Given the description of an element on the screen output the (x, y) to click on. 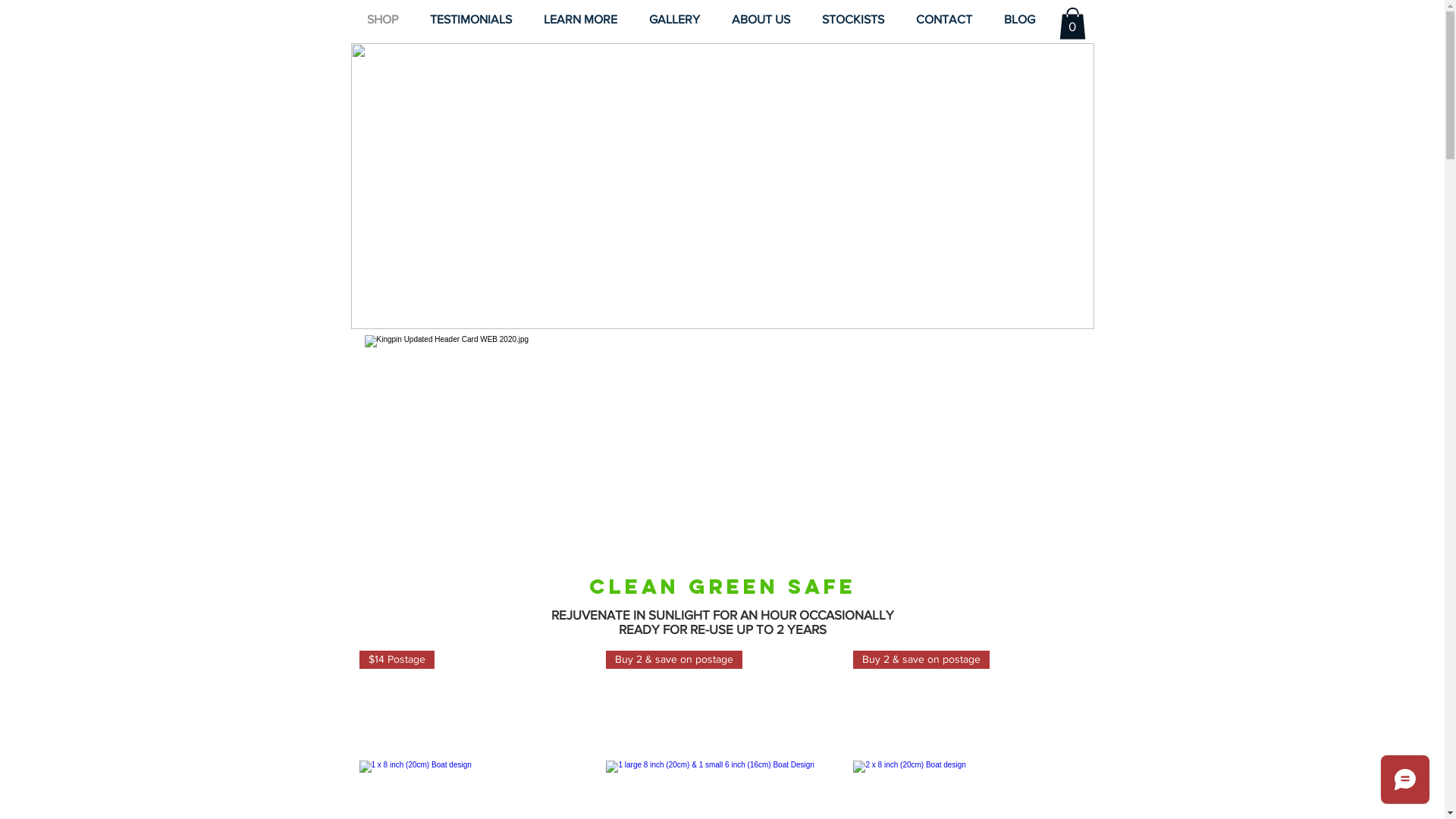
0 Element type: text (1071, 23)
STOCKISTS Element type: text (852, 19)
LEARN MORE Element type: text (580, 19)
signature image logo.png Element type: hover (721, 186)
BLOG Element type: text (1018, 19)
TESTIMONIALS Element type: text (470, 19)
SHOP Element type: text (381, 19)
GALLERY Element type: text (673, 19)
ABOUT US Element type: text (760, 19)
CONTACT Element type: text (943, 19)
